Given the description of an element on the screen output the (x, y) to click on. 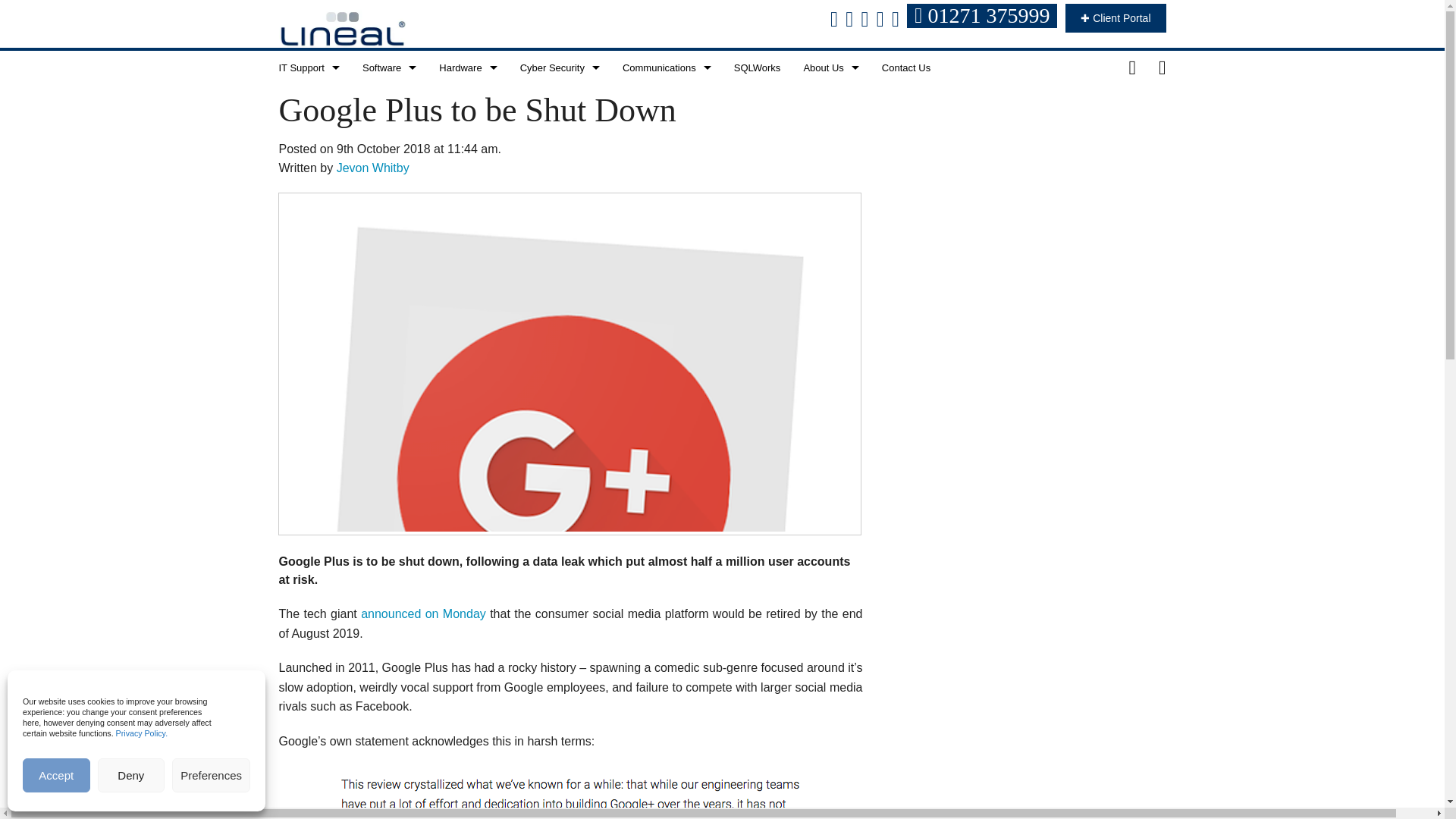
IT Support (308, 67)
Computer Repairs and Upgrades (308, 170)
Cloud IT Services (308, 135)
Deny (131, 775)
Accept (56, 775)
Business IT Support (308, 101)
01271 375999 (982, 15)
01271 375999 (984, 18)
Privacy Policy. (142, 732)
Preferences (210, 775)
